Given the description of an element on the screen output the (x, y) to click on. 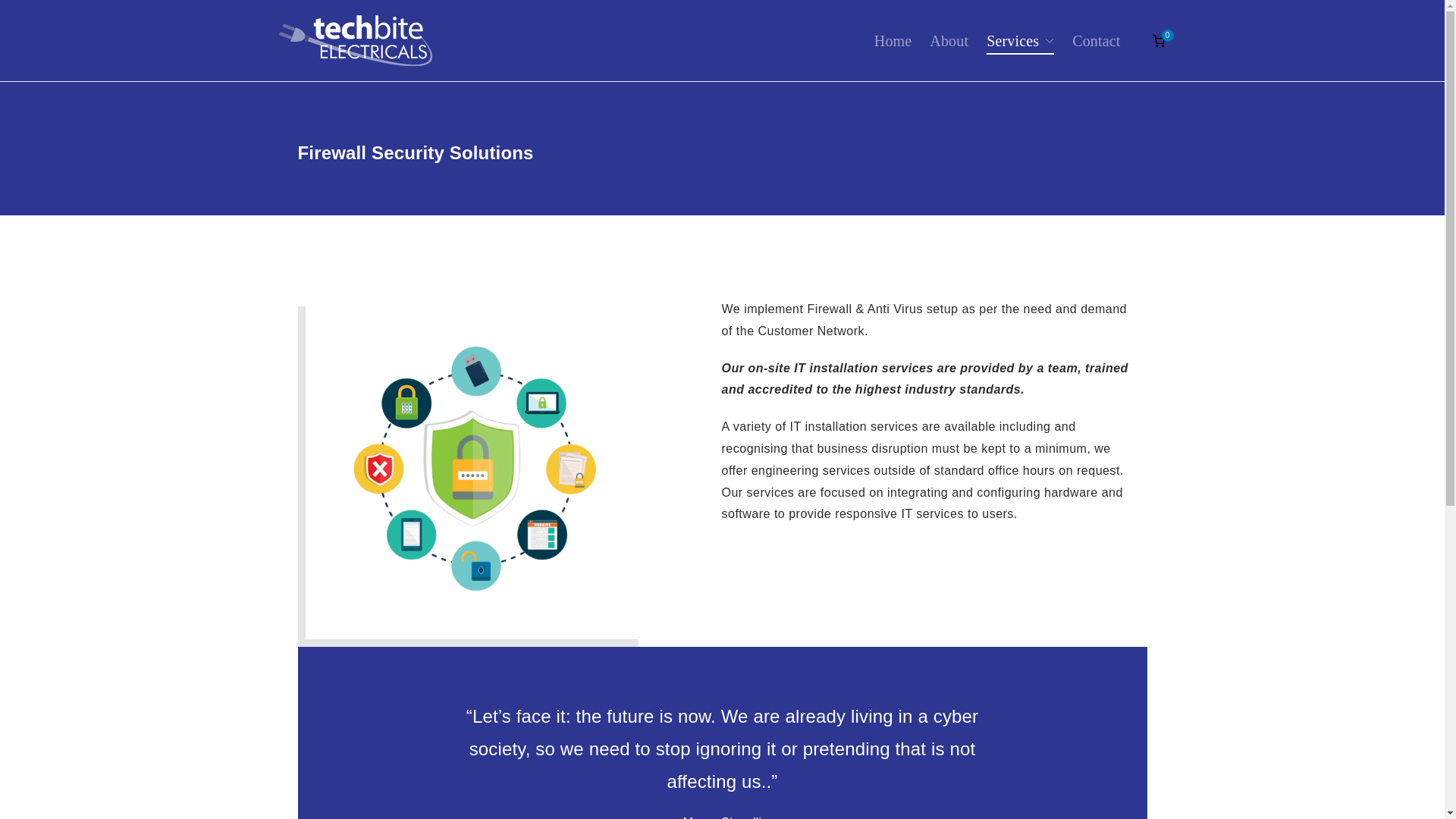
About (949, 40)
Techbite Electricals (541, 55)
Home (893, 40)
Services (1020, 40)
0 (1158, 40)
View your shopping cart (1158, 40)
Contact (1095, 40)
